Given the description of an element on the screen output the (x, y) to click on. 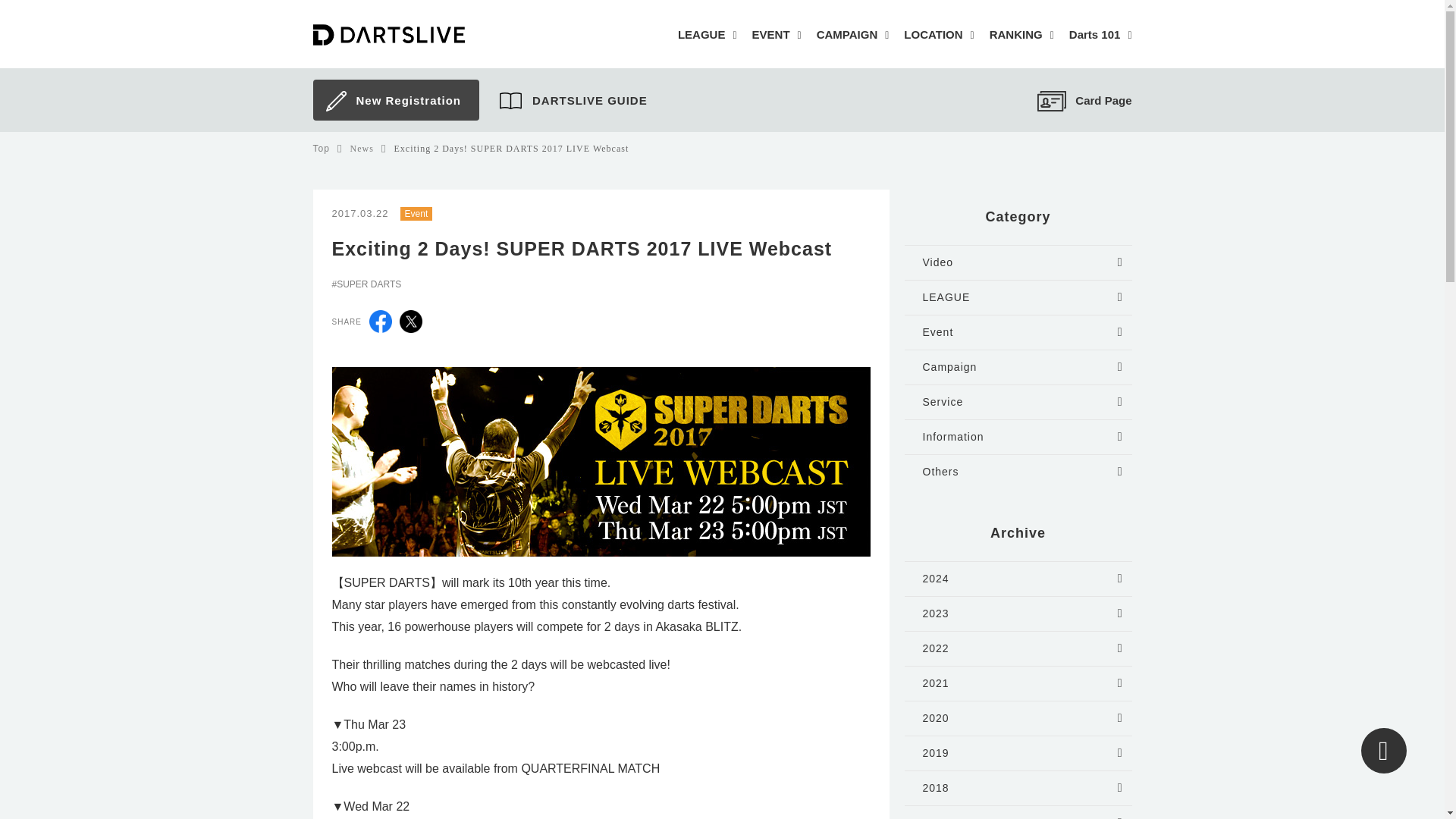
News (362, 148)
DARTSLIVE GUIDE (573, 100)
Exciting 2 Days! SUPER DARTS 2017 LIVE Webcast (511, 148)
LOCATION (939, 35)
Event (416, 213)
Top (321, 148)
RANKING (1022, 35)
DARTSLIVE (413, 34)
LEAGUE (707, 35)
New Registration (393, 100)
